Given the description of an element on the screen output the (x, y) to click on. 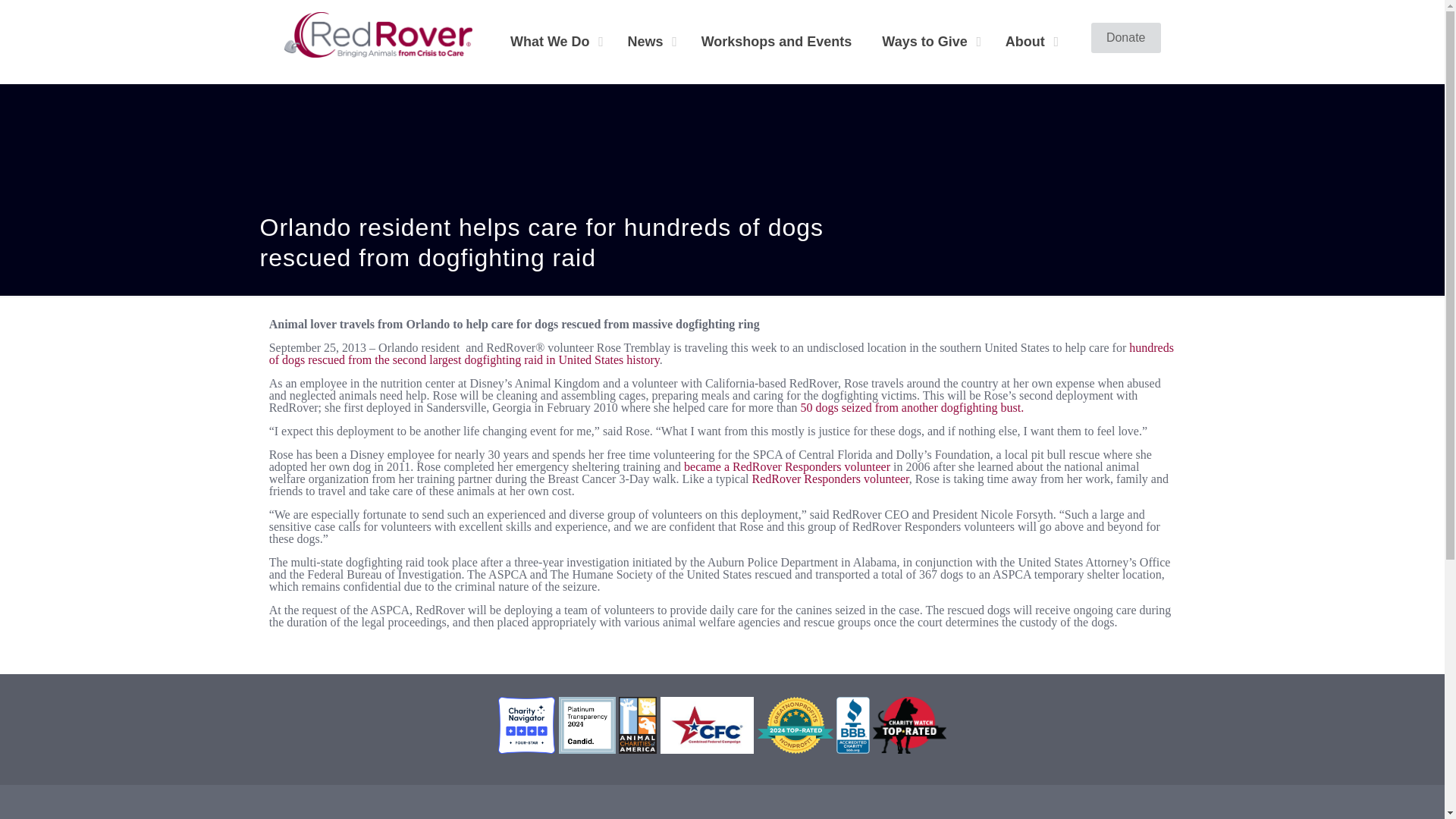
2022 Top-rated nonprofits and charities (794, 724)
2024 Review from Candid (587, 749)
Better Business Bureau Accreditation (852, 749)
Ways to Give (928, 41)
Charity Watch (909, 749)
News (648, 41)
Combined Federal Campaign (707, 749)
What We Do (553, 41)
2022 Charity Navigator (528, 749)
RedRover (377, 33)
